Given the description of an element on the screen output the (x, y) to click on. 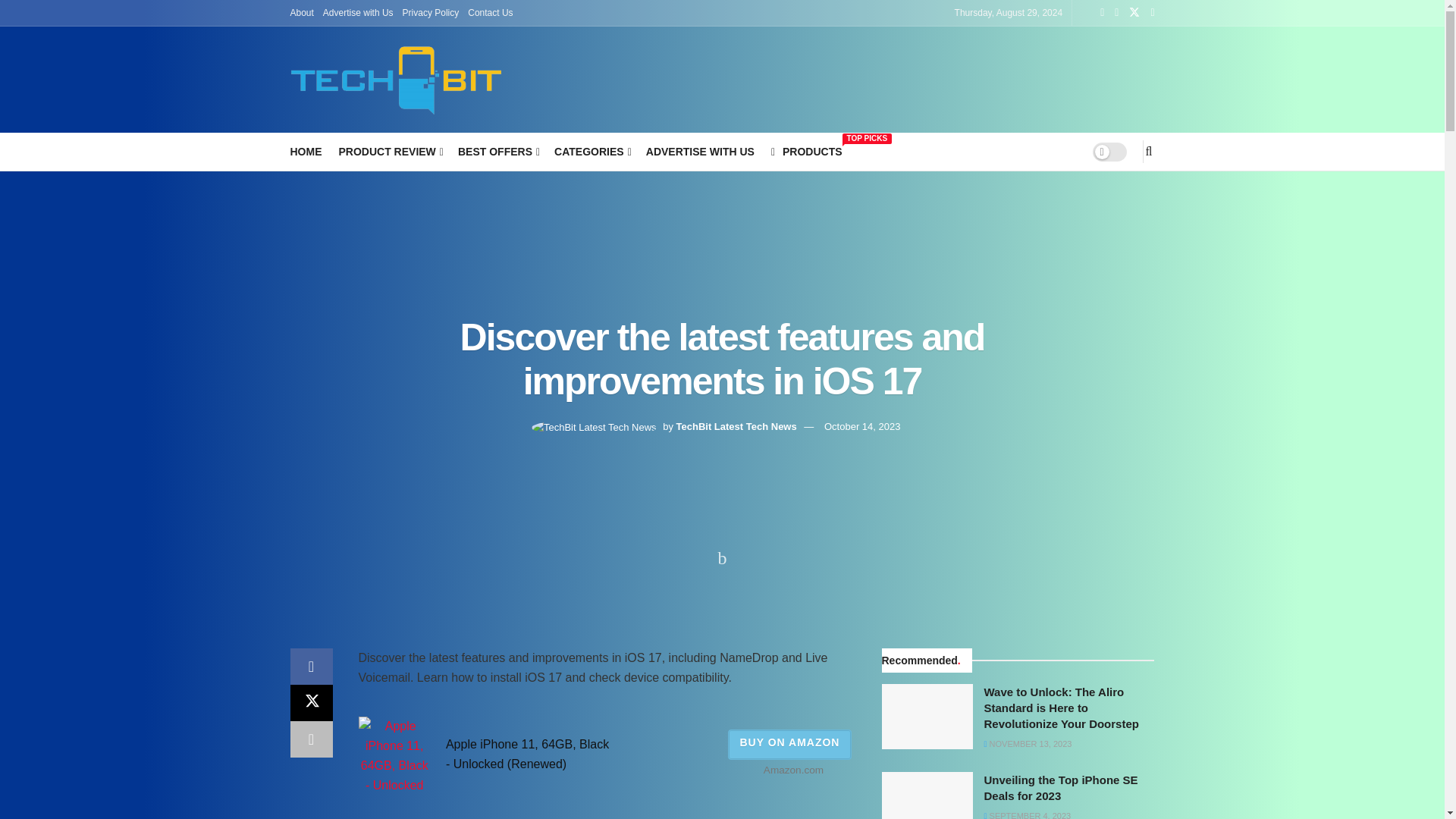
Advertise with Us (358, 12)
CATEGORIES (591, 151)
PRODUCT REVIEW (389, 151)
HOME (305, 151)
BEST OFFERS (497, 151)
Contact Us (489, 12)
Privacy Policy (431, 12)
About (301, 12)
